Given the description of an element on the screen output the (x, y) to click on. 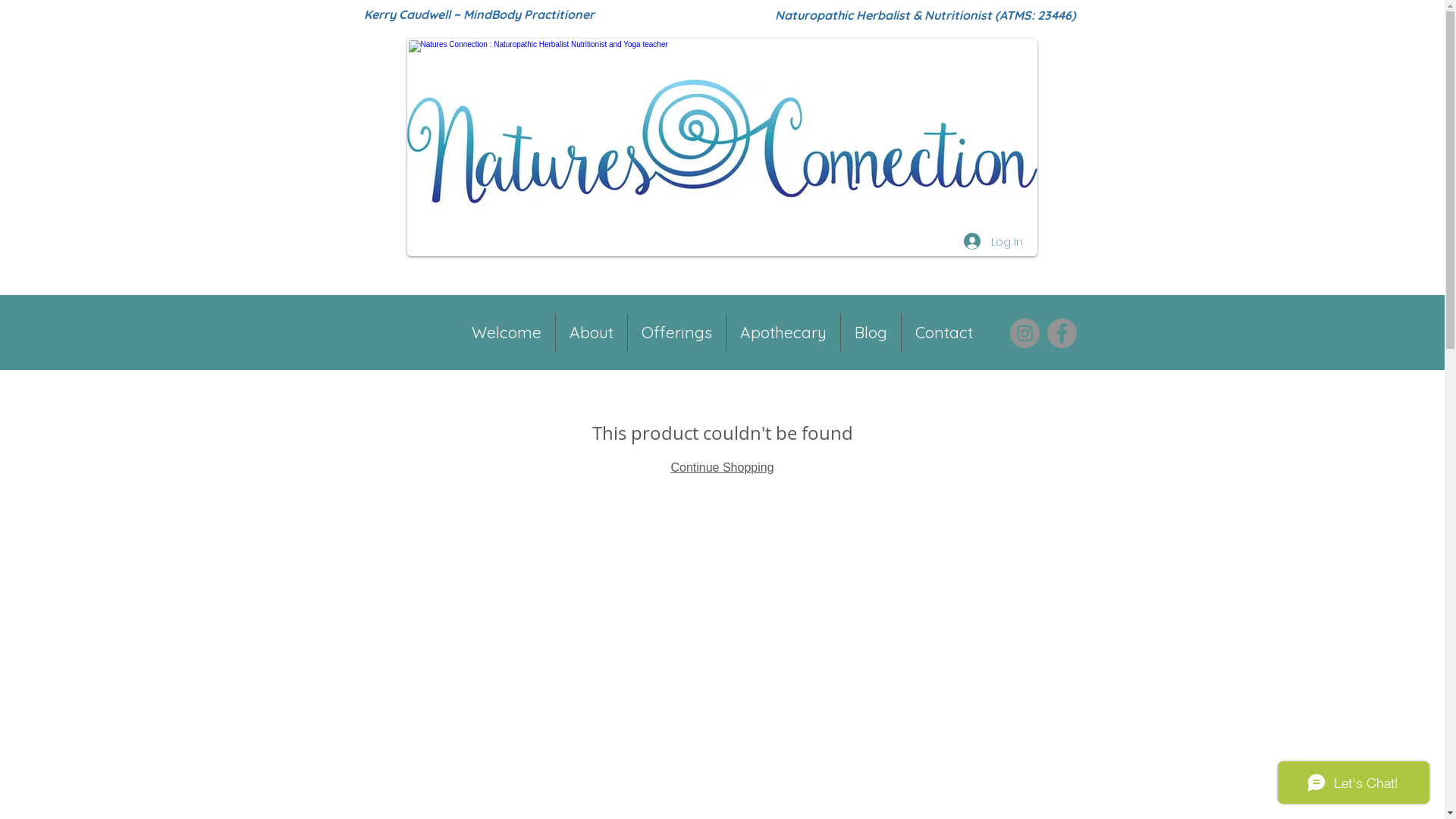
Contact Element type: text (943, 332)
Welcome Element type: text (506, 332)
Apothecary Element type: text (783, 332)
Home Element type: text (401, 321)
Log In Element type: text (992, 241)
Continue Shopping Element type: text (721, 467)
Blog Element type: text (870, 332)
5b5e46_edf33c12e277443b9195189533a869c2~mv2.jpg Element type: hover (721, 146)
Offerings Element type: text (676, 332)
About Element type: text (591, 332)
Central Coast NSW Herbalism Nutrition Yoga  Element type: hover (721, 147)
